Given the description of an element on the screen output the (x, y) to click on. 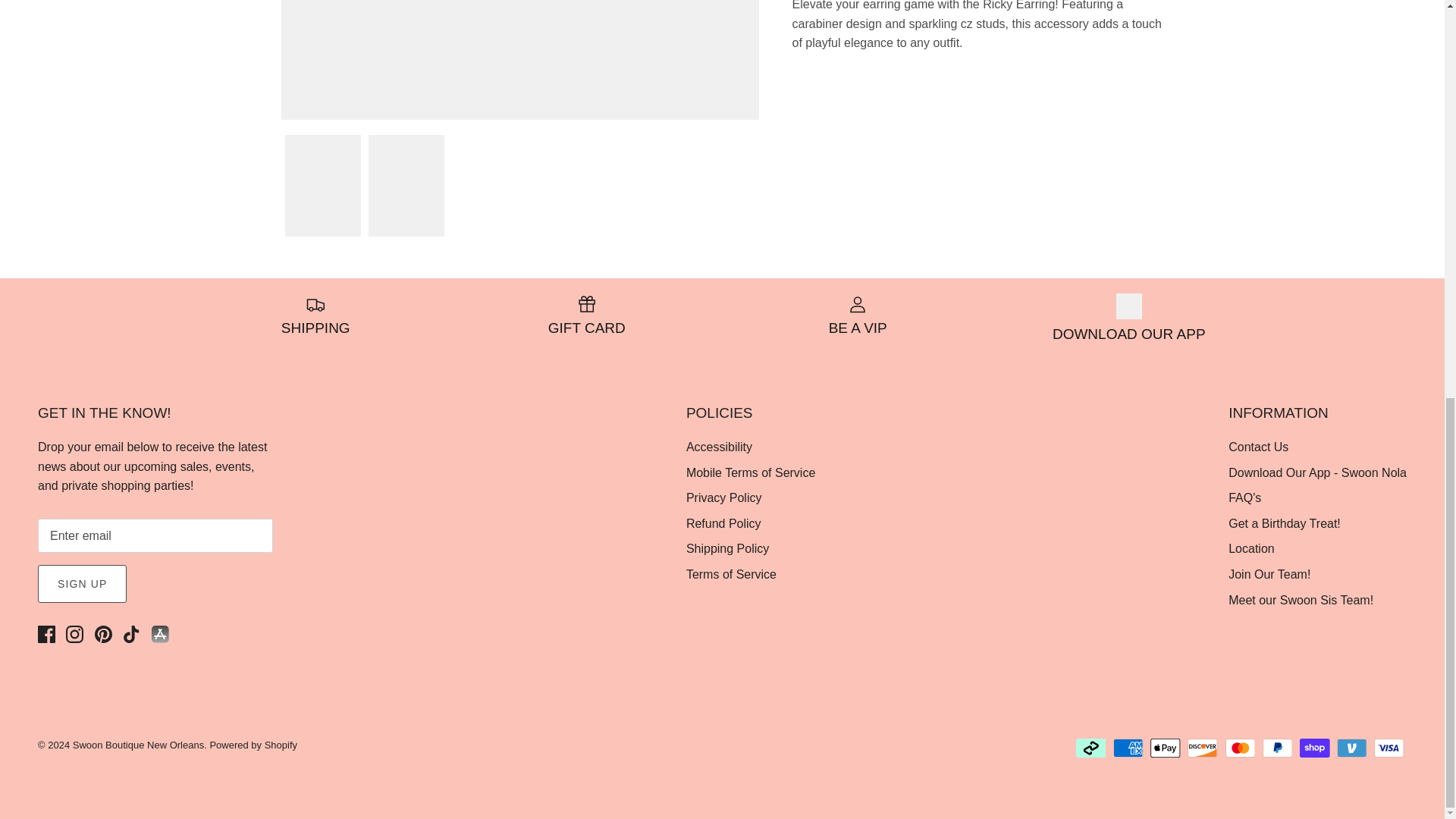
Facebook (46, 633)
Afterpay (1090, 747)
Pinterest (103, 633)
American Express (1127, 747)
Instagram (73, 633)
